Given the description of an element on the screen output the (x, y) to click on. 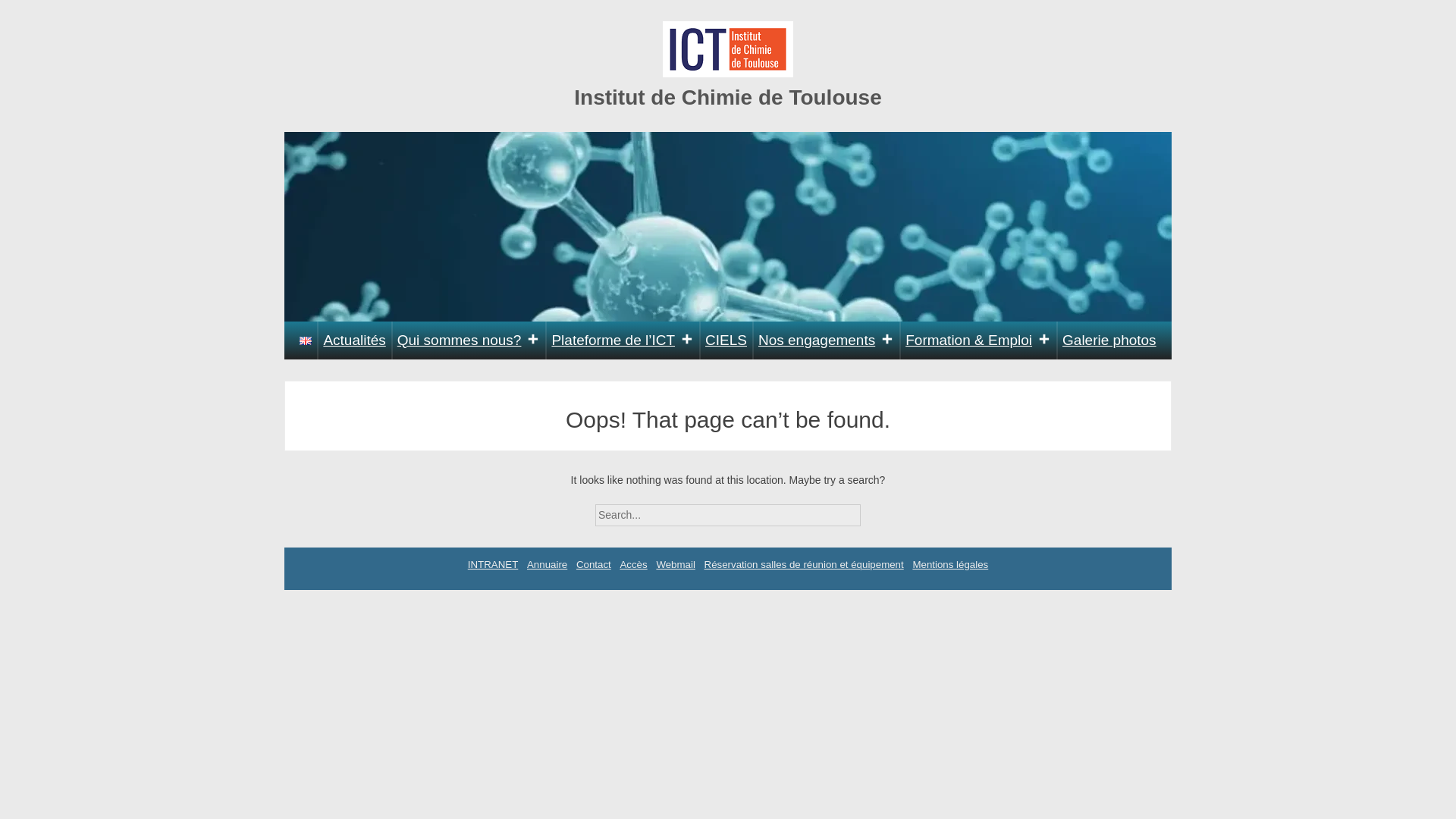
Qui sommes nous? (468, 340)
Nos engagements (825, 340)
CIELS (726, 340)
Search (873, 509)
Institut de Chimie de Toulouse (727, 97)
Search (873, 509)
